Given the description of an element on the screen output the (x, y) to click on. 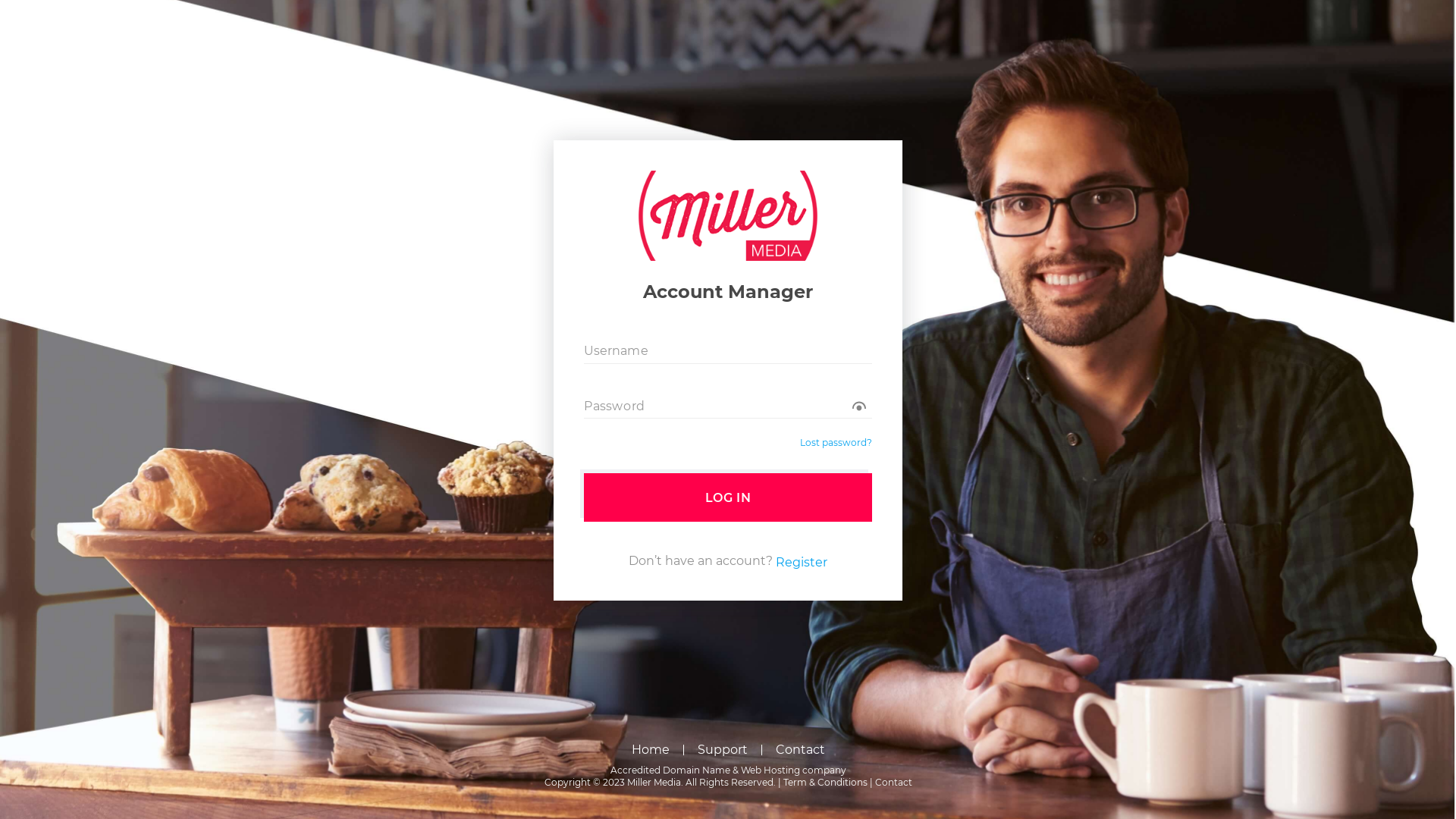
Home Element type: text (649, 749)
Lost password? Element type: text (836, 442)
Support Element type: text (722, 749)
Contact Element type: text (893, 781)
Contact Element type: text (799, 749)
LOG IN Element type: text (727, 497)
Term & Conditions Element type: text (824, 781)
Register Element type: text (801, 562)
